Given the description of an element on the screen output the (x, y) to click on. 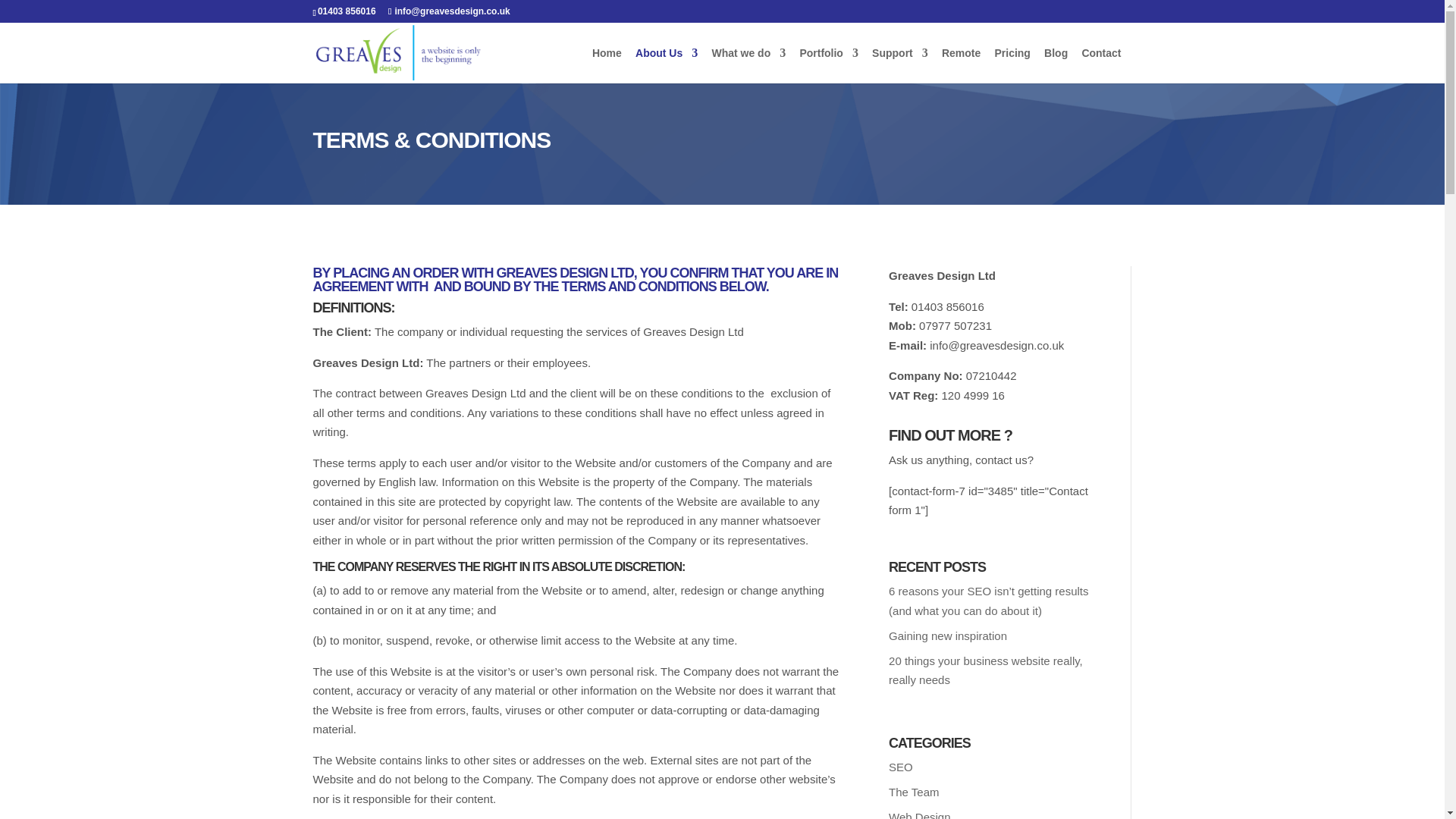
About Us (665, 65)
About Us (665, 65)
What we do (748, 65)
What we do (748, 65)
